Given the description of an element on the screen output the (x, y) to click on. 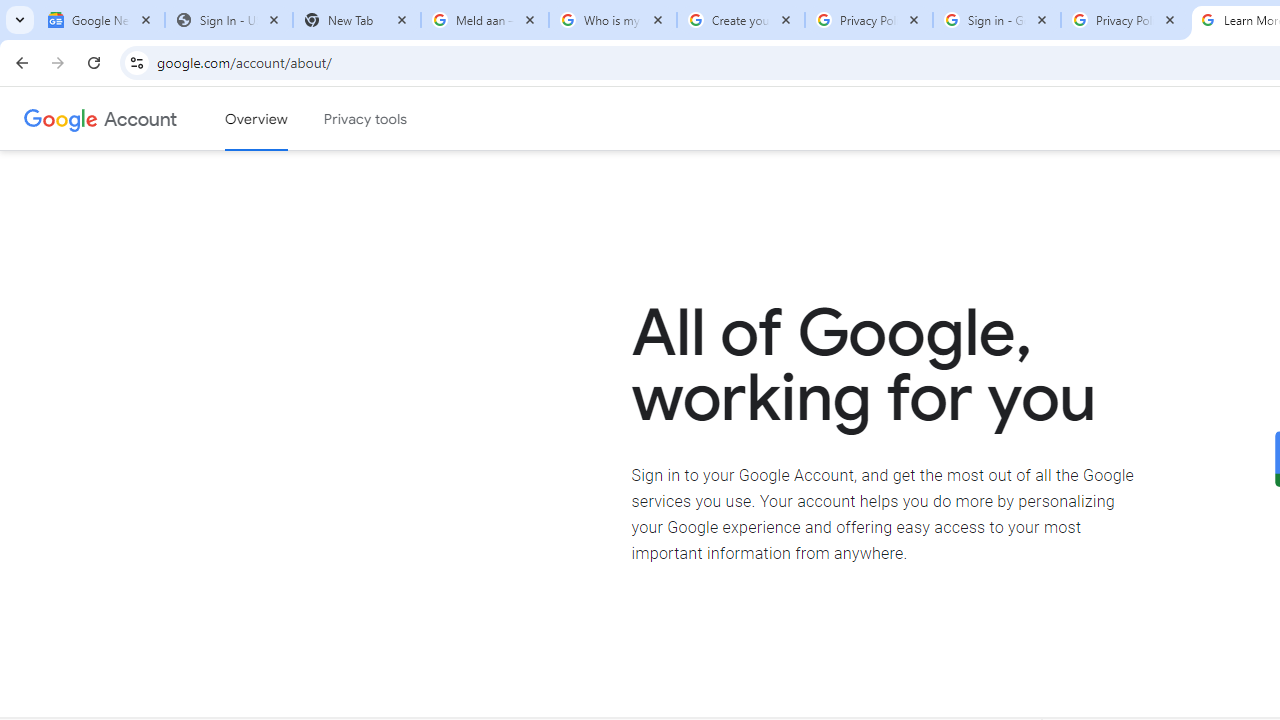
Sign in - Google Accounts (997, 20)
Create your Google Account (741, 20)
Google News (101, 20)
Skip to Content (285, 115)
Privacy tools (365, 119)
Who is my administrator? - Google Account Help (613, 20)
Google logo (61, 118)
Google Account overview (256, 119)
